Given the description of an element on the screen output the (x, y) to click on. 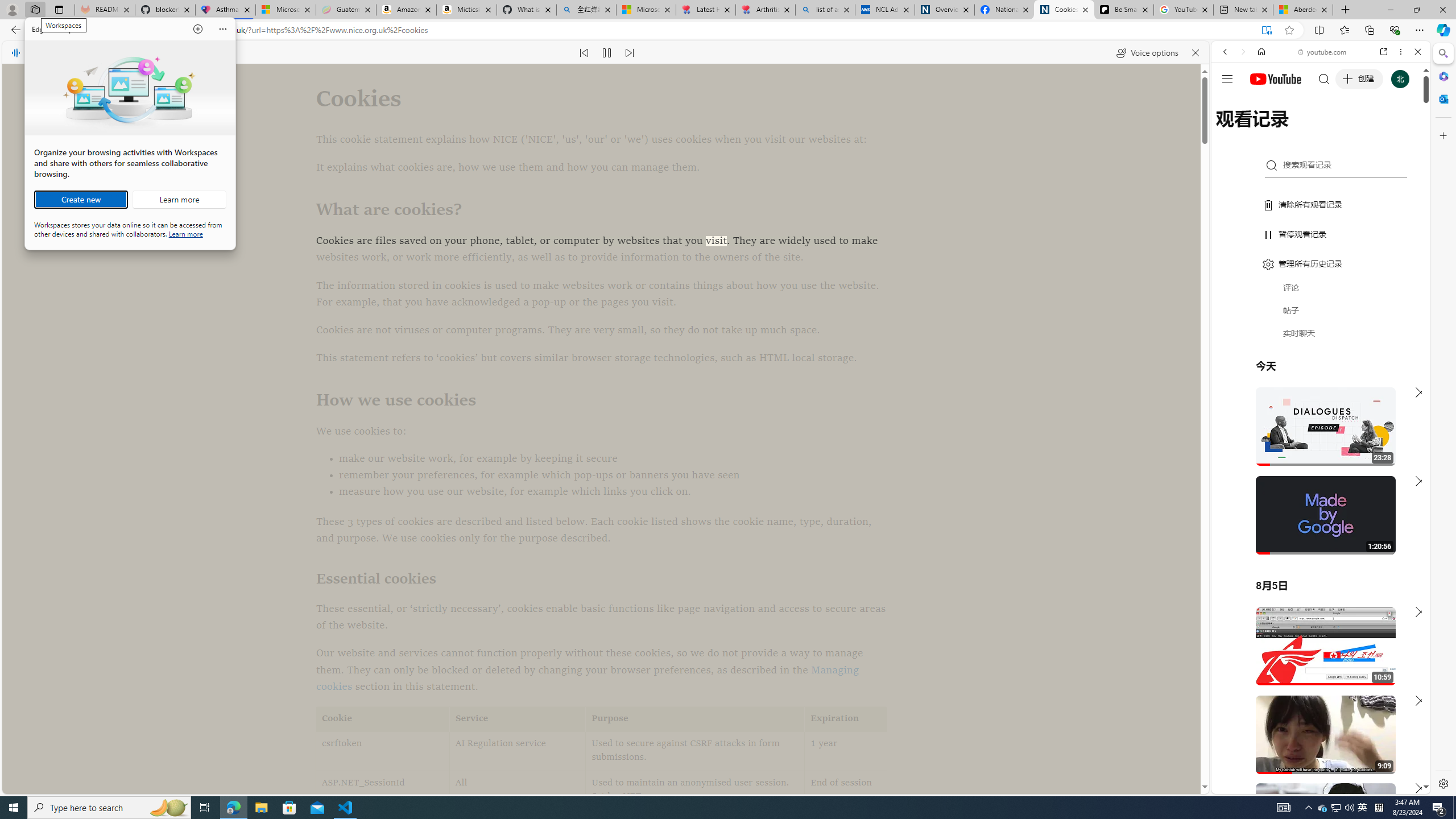
Managing cookies (587, 678)
Search videos from youtube.com (1299, 373)
Microsoft Edge - 1 running window (1322, 807)
Search Filter, IMAGES (233, 807)
Used to secure against CSRF attacks in form submissions. (1262, 129)
Purpose (695, 751)
Read previous paragraph (695, 718)
make our website work, for example by keeping it secure (583, 52)
